Given the description of an element on the screen output the (x, y) to click on. 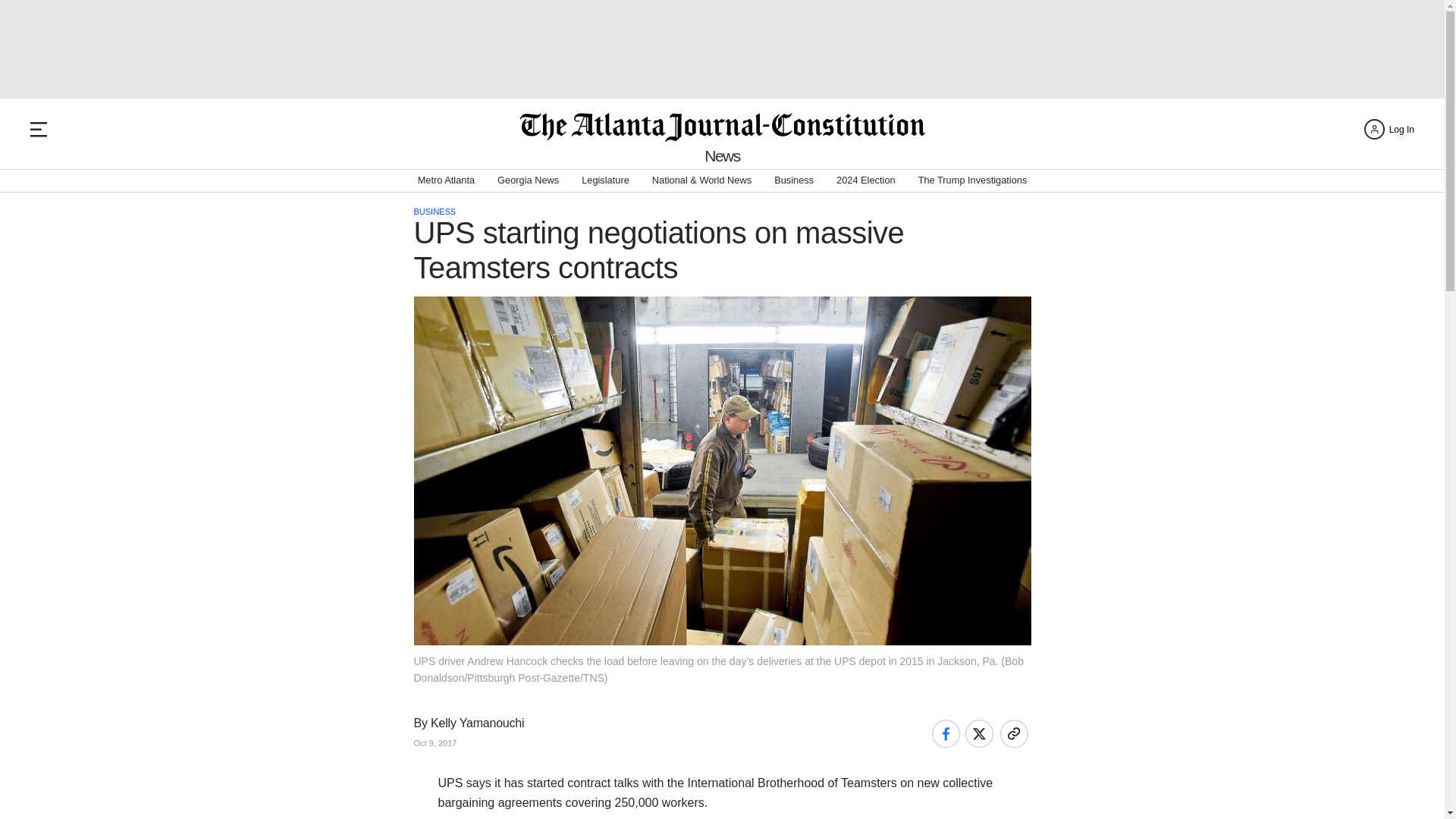
Legislature (604, 180)
2024 Election (865, 180)
The Trump Investigations (972, 180)
News (721, 155)
Metro Atlanta (445, 180)
Business (793, 180)
Georgia News (528, 180)
